Given the description of an element on the screen output the (x, y) to click on. 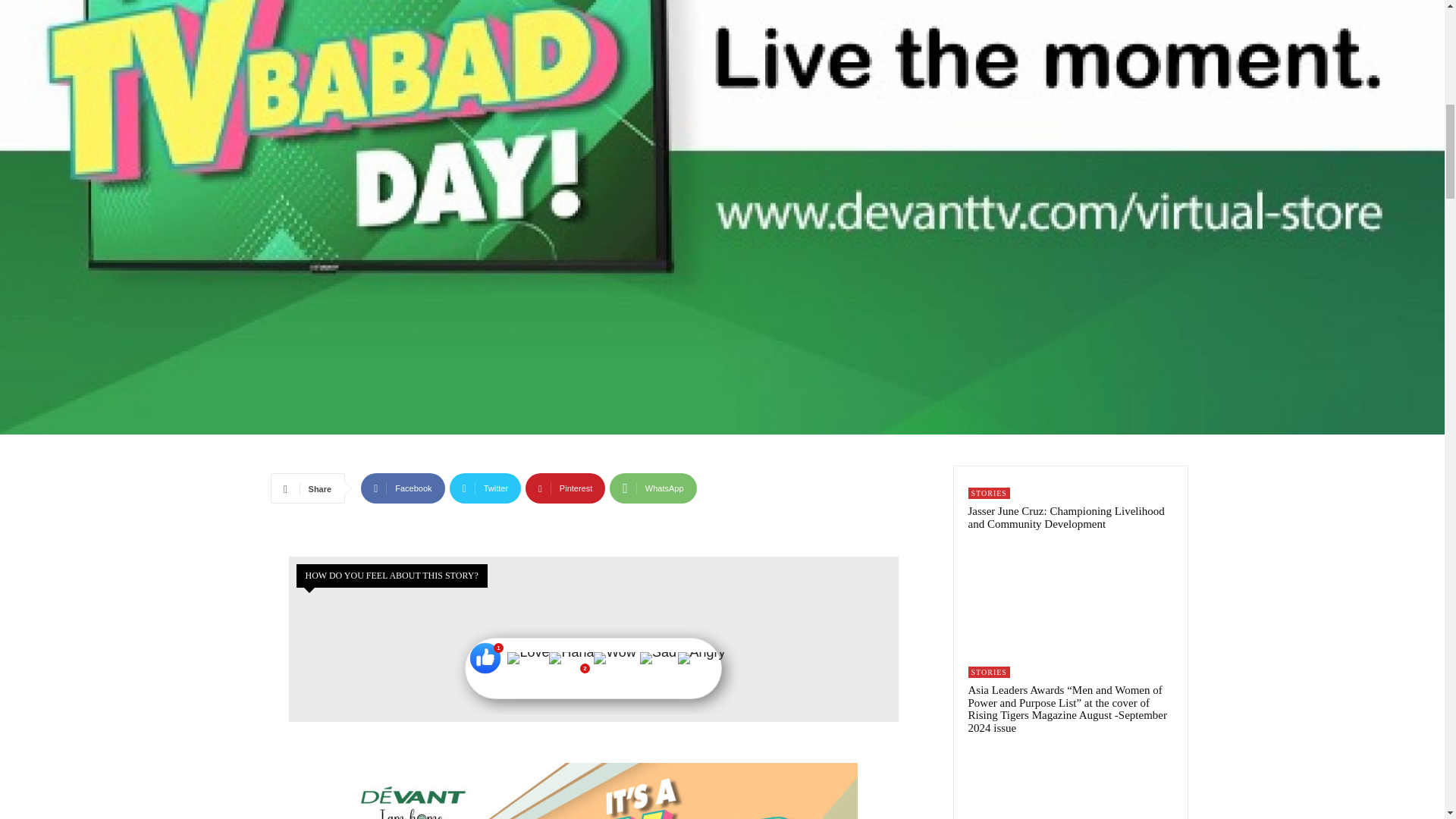
Facebook (402, 488)
WhatsApp (652, 488)
STORIES (988, 672)
WhatsApp (652, 488)
STORIES (988, 492)
Pinterest (565, 488)
Twitter (485, 488)
Pinterest (565, 488)
Twitter (485, 488)
Facebook (402, 488)
